Given the description of an element on the screen output the (x, y) to click on. 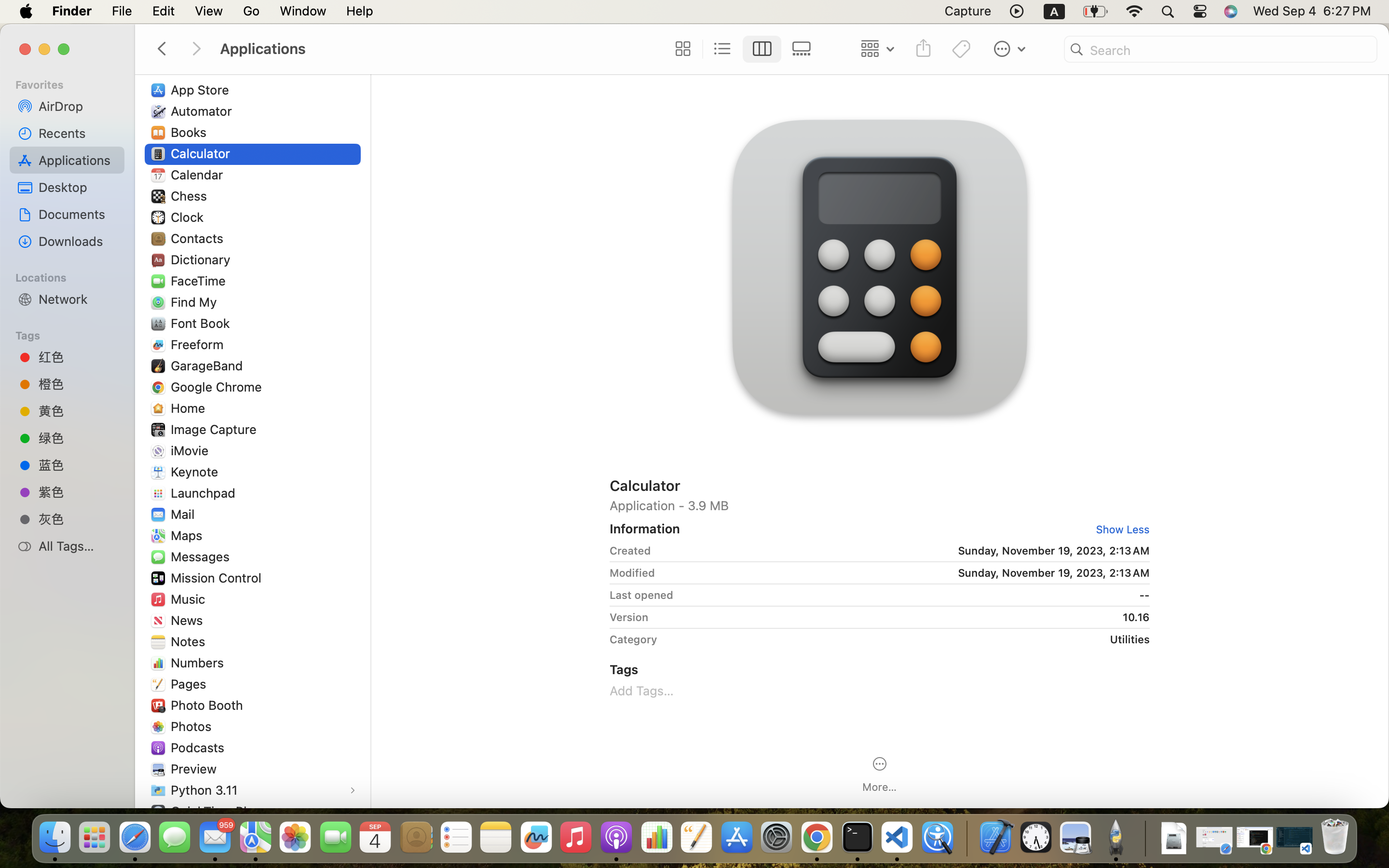
灰色 Element type: AXStaticText (77, 518)
Application - 3.9 MB Element type: AXStaticText (879, 505)
Favorites Element type: AXStaticText (72, 83)
橙色 Element type: AXStaticText (77, 383)
Image Capture Element type: AXTextField (215, 428)
